Given the description of an element on the screen output the (x, y) to click on. 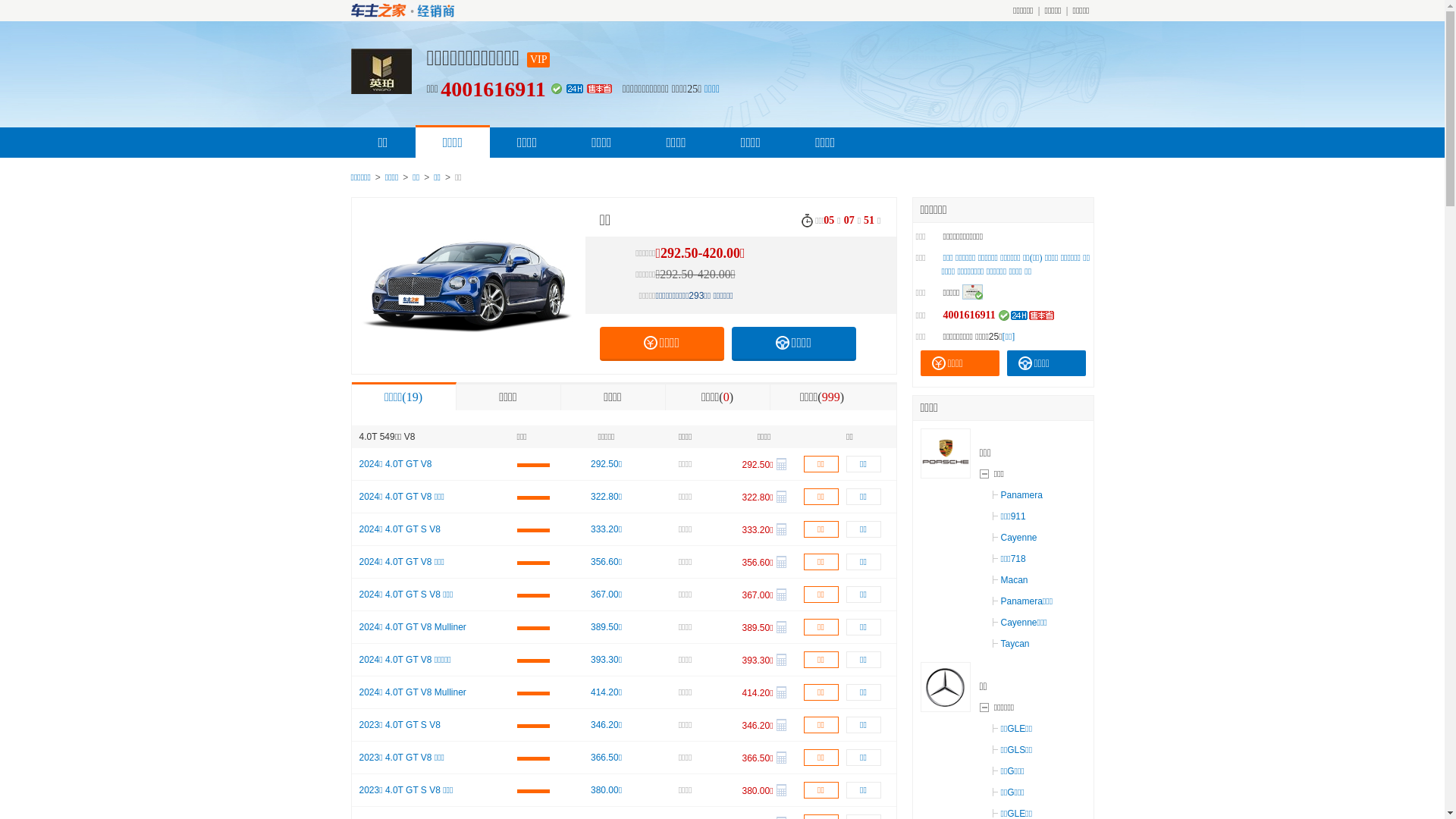
Taycan Element type: text (1010, 643)
Macan Element type: text (1009, 579)
Cayenne Element type: text (1014, 537)
Panamera Element type: text (1016, 494)
